Given the description of an element on the screen output the (x, y) to click on. 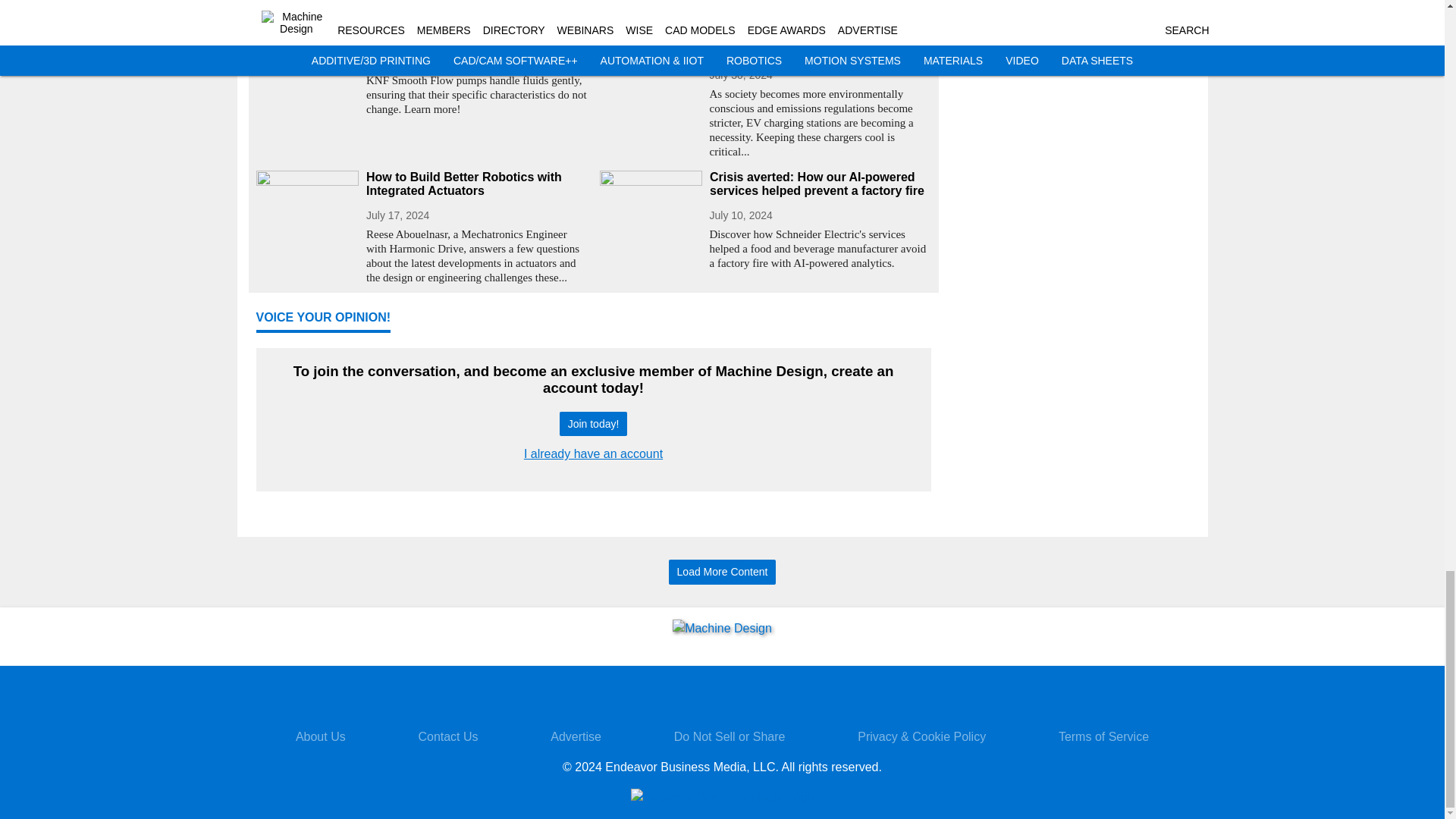
Smooth Flow Pumps at a Closer Look (476, 37)
How to Build Better Robotics with Integrated Actuators (476, 184)
I already have an account (593, 453)
Pump Technology Keeps EV Charging Stations Cool (820, 43)
Join today! (593, 423)
